Given the description of an element on the screen output the (x, y) to click on. 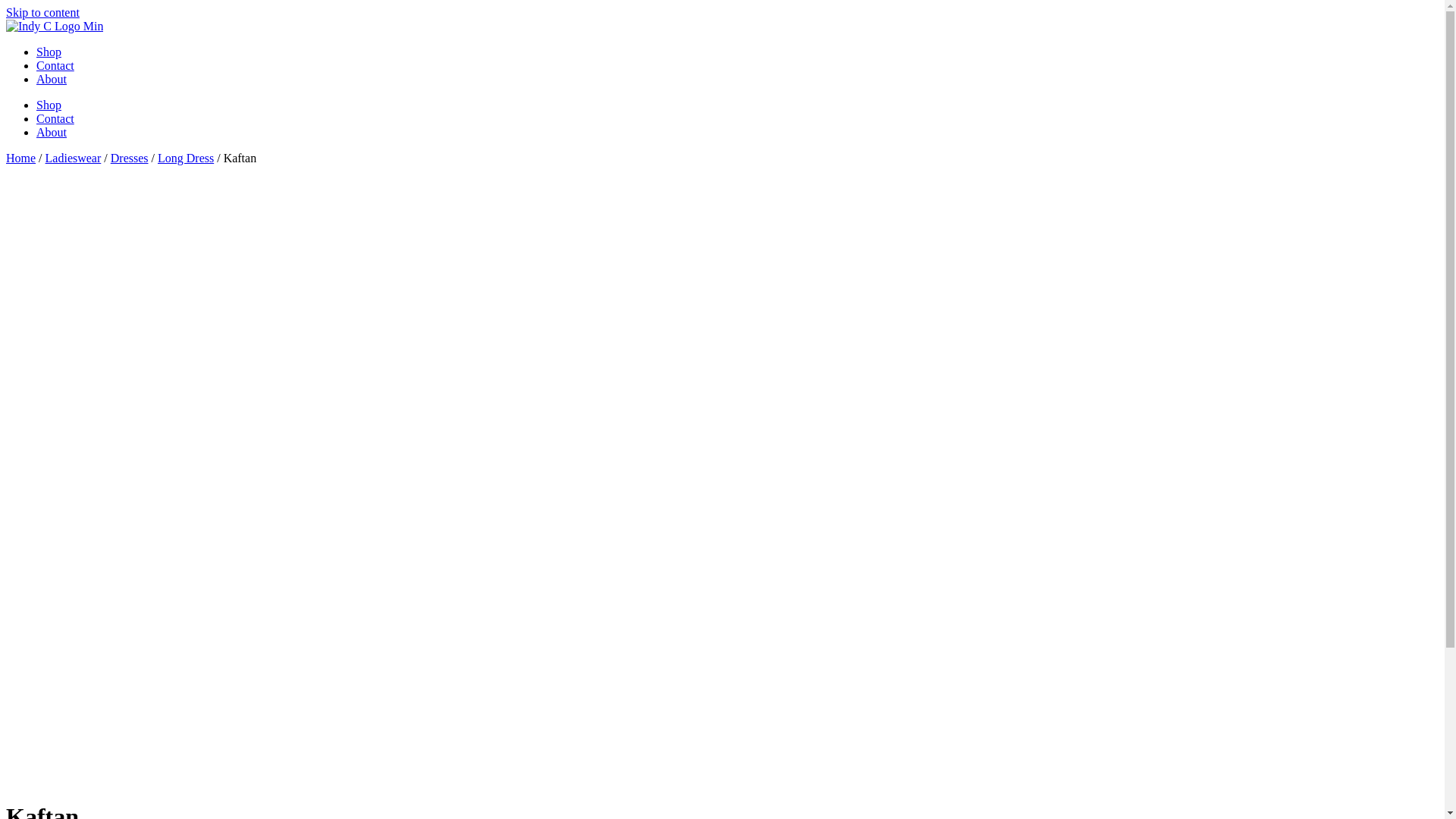
Ladieswear Element type: text (73, 157)
Shop Element type: text (48, 51)
About Element type: text (51, 131)
Dresses Element type: text (129, 157)
Skip to content Element type: text (42, 12)
Indy C Logo Min Element type: hover (54, 26)
Contact Element type: text (55, 65)
Contact Element type: text (55, 118)
Home Element type: text (20, 157)
Shop Element type: text (48, 104)
Long Dress Element type: text (185, 157)
About Element type: text (51, 78)
